Given the description of an element on the screen output the (x, y) to click on. 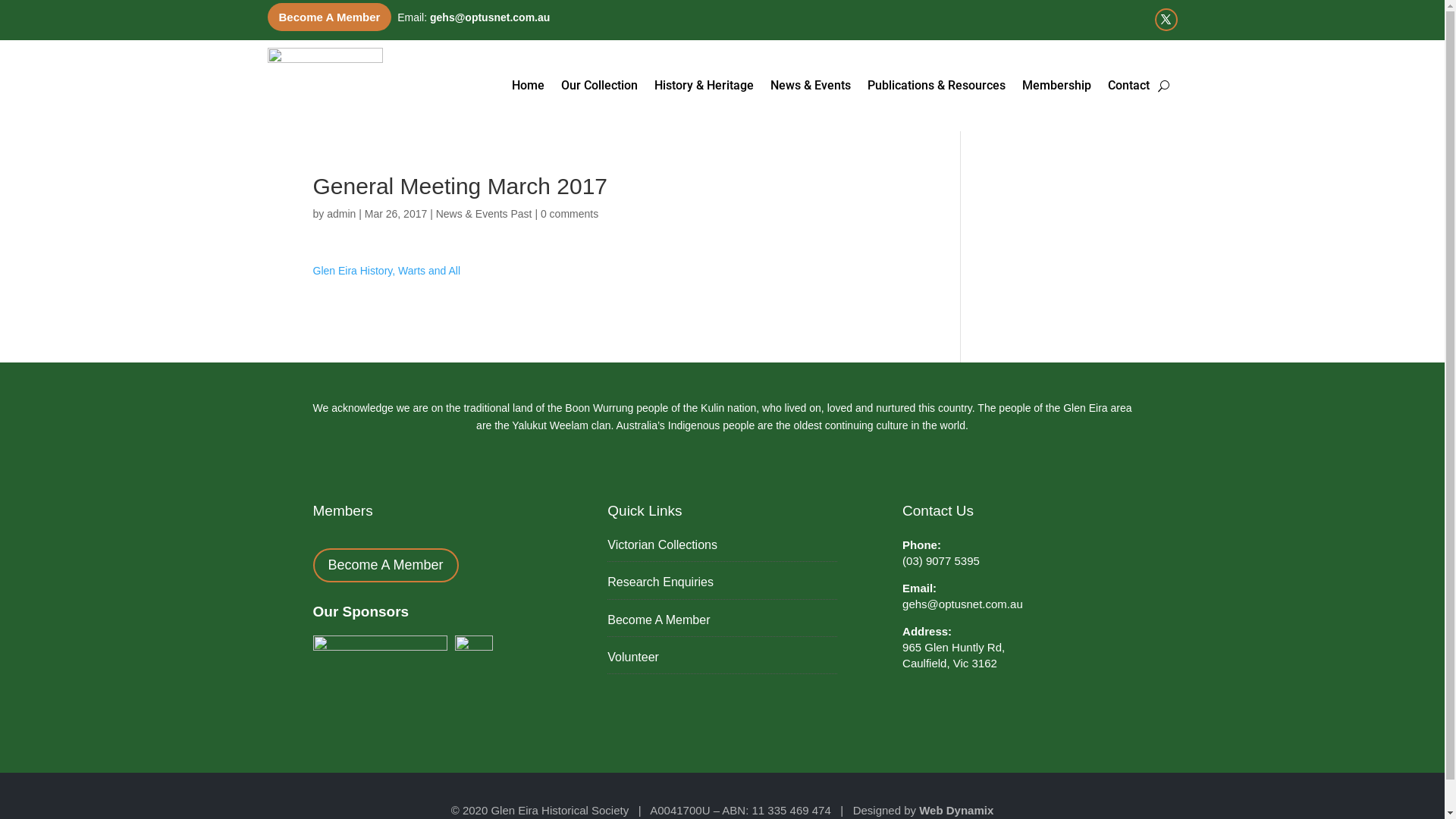
Follow on X Element type: hover (1165, 19)
Home Element type: text (527, 85)
Our Collection Element type: text (599, 85)
Research Enquiries Element type: text (721, 586)
Glen Eira History, Warts and All Element type: text (386, 270)
Membership Element type: text (1056, 85)
Become A Member Element type: text (385, 565)
0 comments Element type: text (569, 213)
Web Dynamix Element type: text (956, 809)
Victorian Collections Element type: text (721, 548)
Contact Element type: text (1127, 85)
Become A Member Element type: text (328, 17)
gehs@optusnet.com.au Element type: text (489, 17)
History & Heritage Element type: text (703, 85)
News & Events Past Element type: text (484, 213)
gehs@optusnet.com.au Element type: text (962, 603)
Become A Member Element type: text (721, 624)
Volunteer Element type: text (721, 661)
News & Events Element type: text (810, 85)
admin Element type: text (340, 213)
Publications & Resources Element type: text (936, 85)
(03) 9077 5395 Element type: text (940, 560)
